Given the description of an element on the screen output the (x, y) to click on. 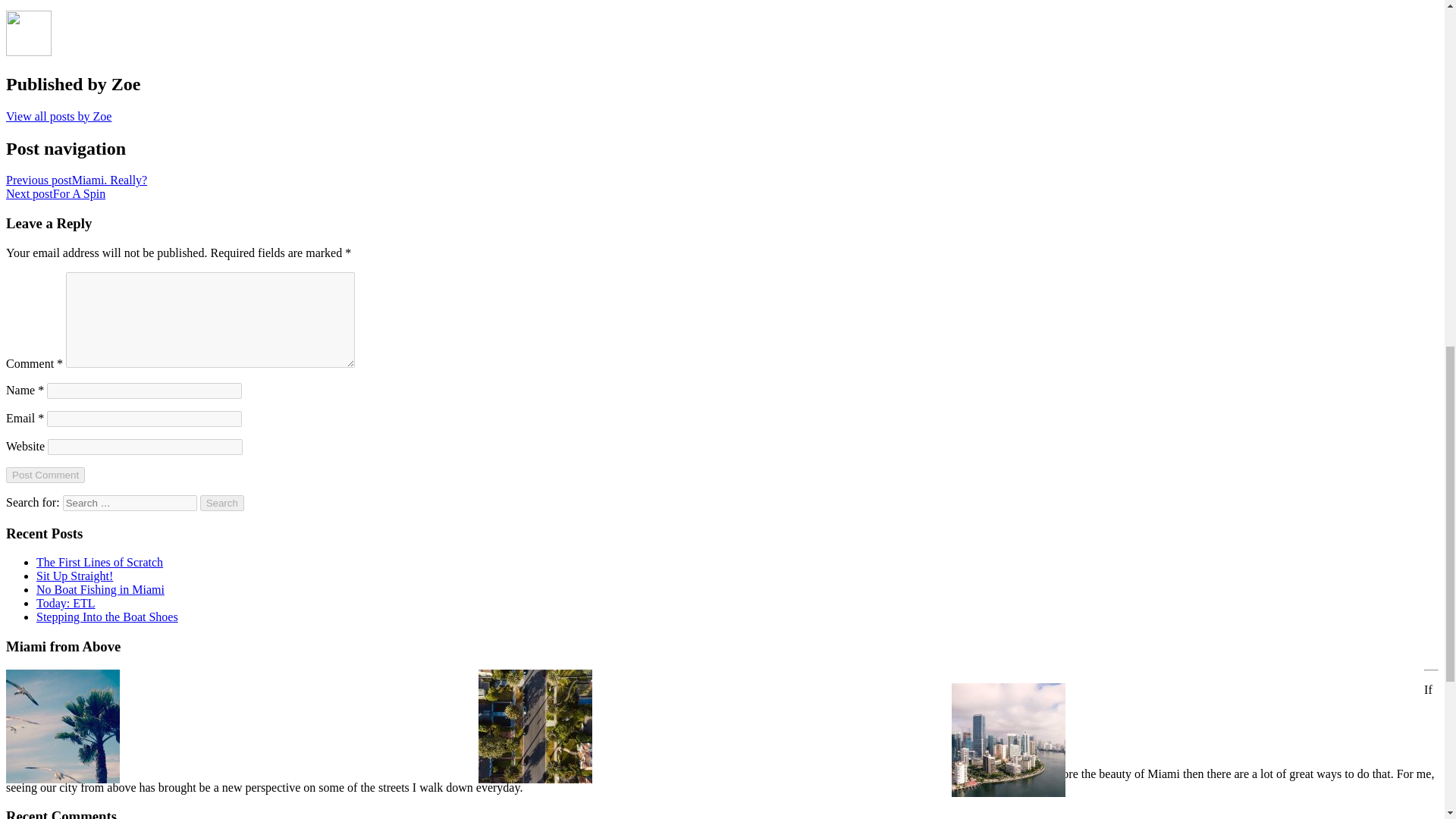
Search (222, 503)
Post Comment (44, 474)
Search (222, 503)
View all posts by Zoe (58, 115)
Search (222, 503)
Sit Up Straight! (74, 575)
Stepping Into the Boat Shoes (106, 616)
Previous postMiami. Really? (76, 179)
The First Lines of Scratch (99, 562)
Post Comment (44, 474)
Next postFor A Spin (54, 193)
No Boat Fishing in Miami (100, 589)
Today: ETL (66, 603)
